Given the description of an element on the screen output the (x, y) to click on. 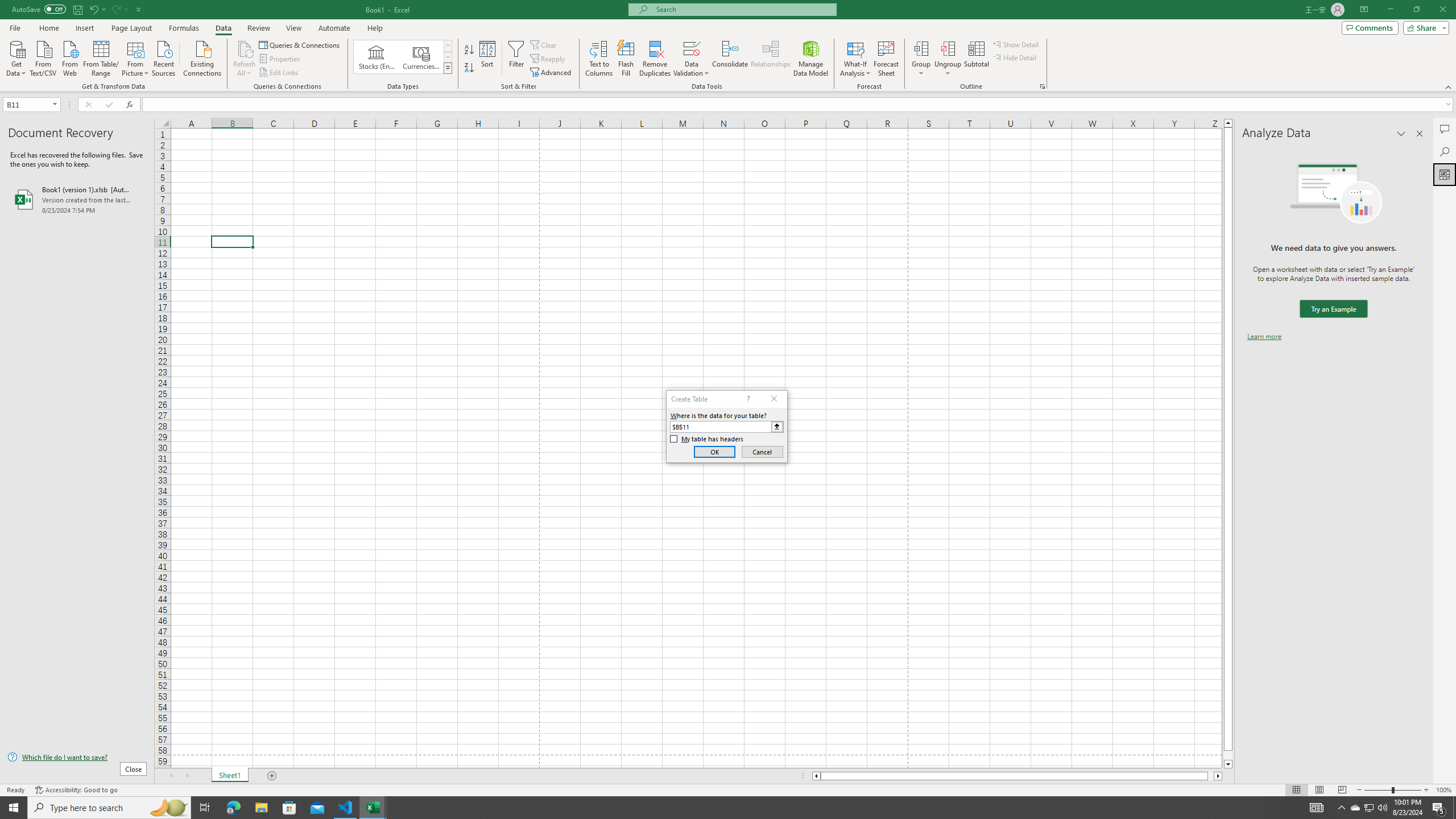
Normal (1296, 790)
Add Sheet (272, 775)
Comments (1444, 128)
Microsoft search (742, 9)
Formula Bar (799, 104)
Home (48, 28)
Learn more (1264, 336)
Group and Outline Settings (1042, 85)
Open (54, 104)
Page right (1211, 775)
Column left (815, 775)
Help (374, 28)
Consolidate... (729, 58)
Zoom Out (1377, 790)
